Given the description of an element on the screen output the (x, y) to click on. 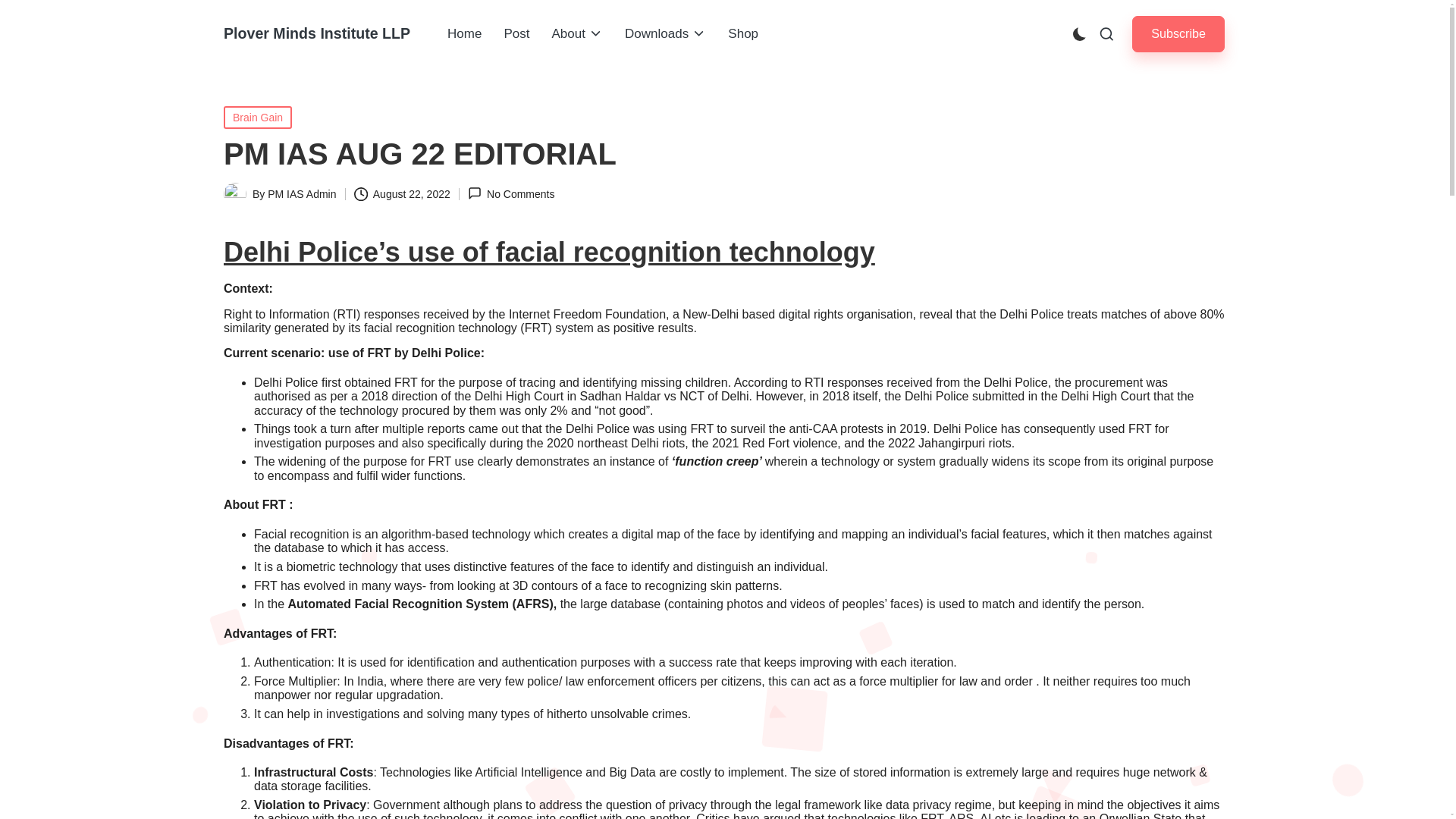
Post (516, 34)
Shop (742, 34)
View all posts by PM IAS Admin (301, 193)
No Comments (510, 193)
Downloads (665, 34)
PM IAS Admin (301, 193)
Plover Minds Institute LLP (317, 33)
About (576, 34)
Subscribe (1178, 33)
Brain Gain (258, 117)
